Given the description of an element on the screen output the (x, y) to click on. 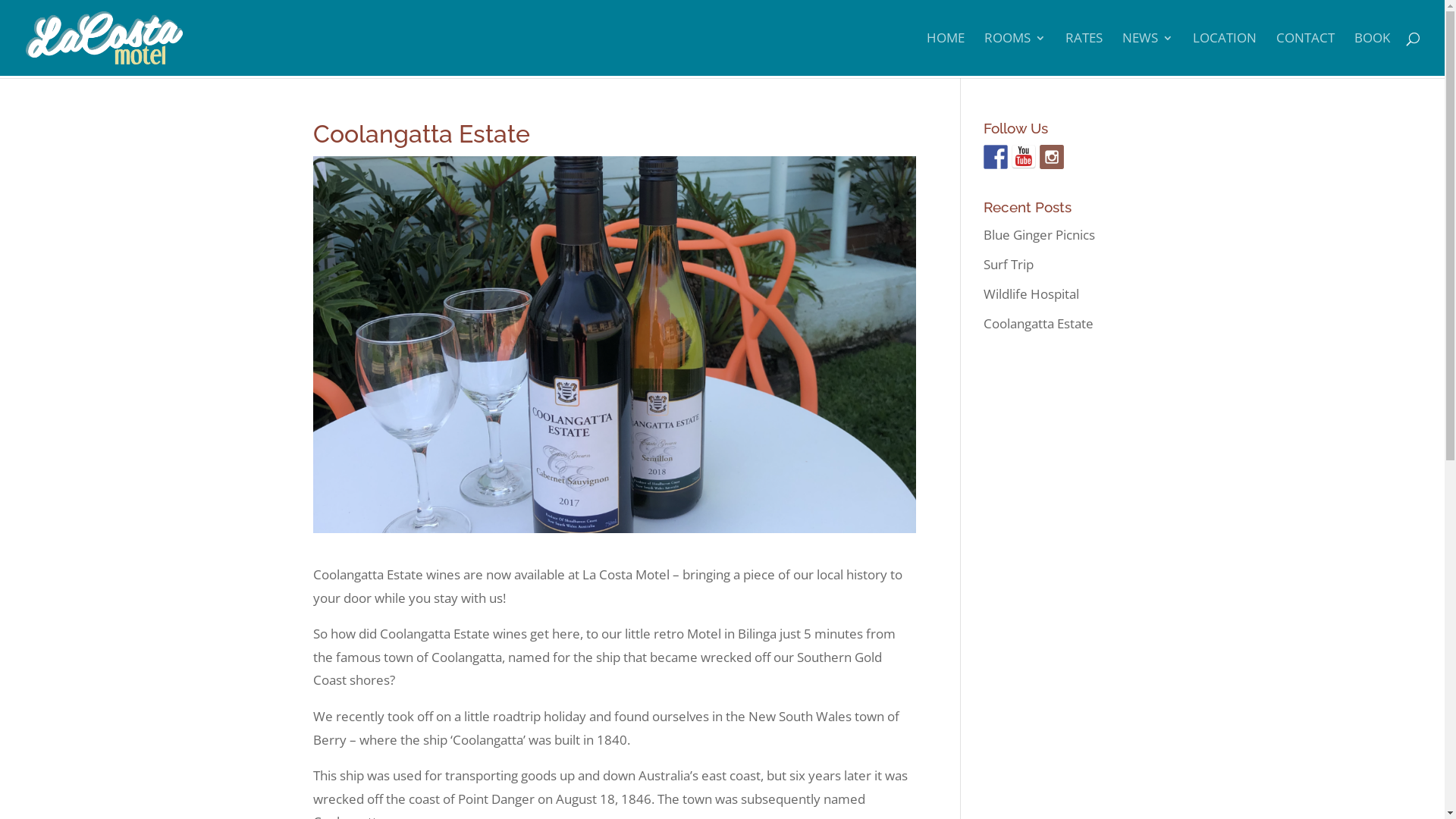
Check out our instagram feed Element type: hover (1051, 156)
Find us on YouTube Element type: hover (1023, 156)
Surf Trip Element type: text (1008, 264)
RATES Element type: text (1083, 53)
BOOK Element type: text (1372, 53)
Follow us on Facebook Element type: hover (995, 156)
CONTACT Element type: text (1305, 53)
Blue Ginger Picnics Element type: text (1039, 234)
NEWS Element type: text (1147, 53)
Coolangatta Estate Element type: text (1038, 323)
LOCATION Element type: text (1224, 53)
ROOMS Element type: text (1014, 53)
Wildlife Hospital Element type: text (1031, 293)
HOME Element type: text (945, 53)
